Given the description of an element on the screen output the (x, y) to click on. 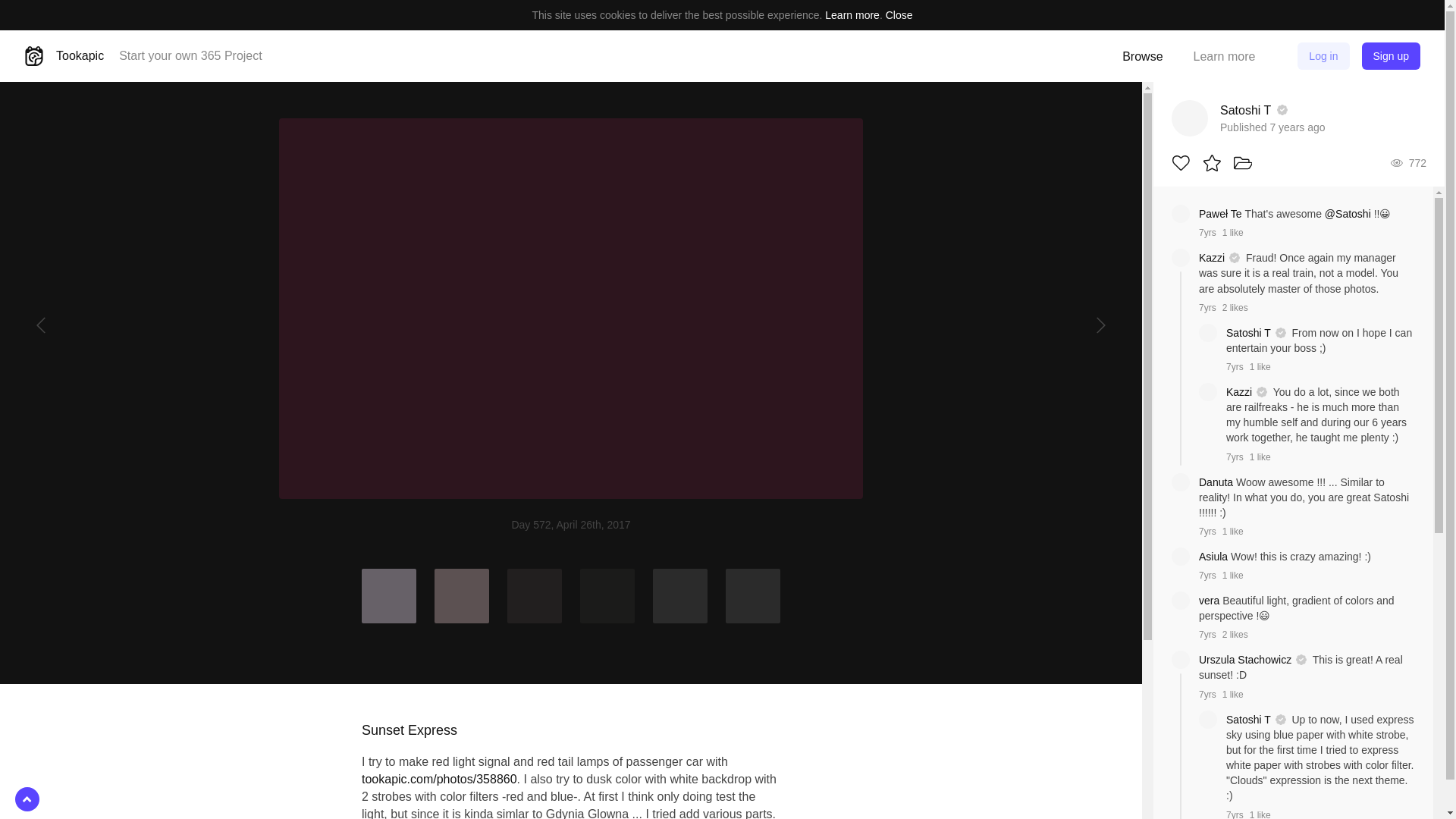
Sign up (1391, 55)
Browse (1141, 56)
Start your own 365 Project (190, 55)
Close (898, 14)
Learn more (1224, 56)
Learn more (852, 15)
Log in (1323, 55)
